Given the description of an element on the screen output the (x, y) to click on. 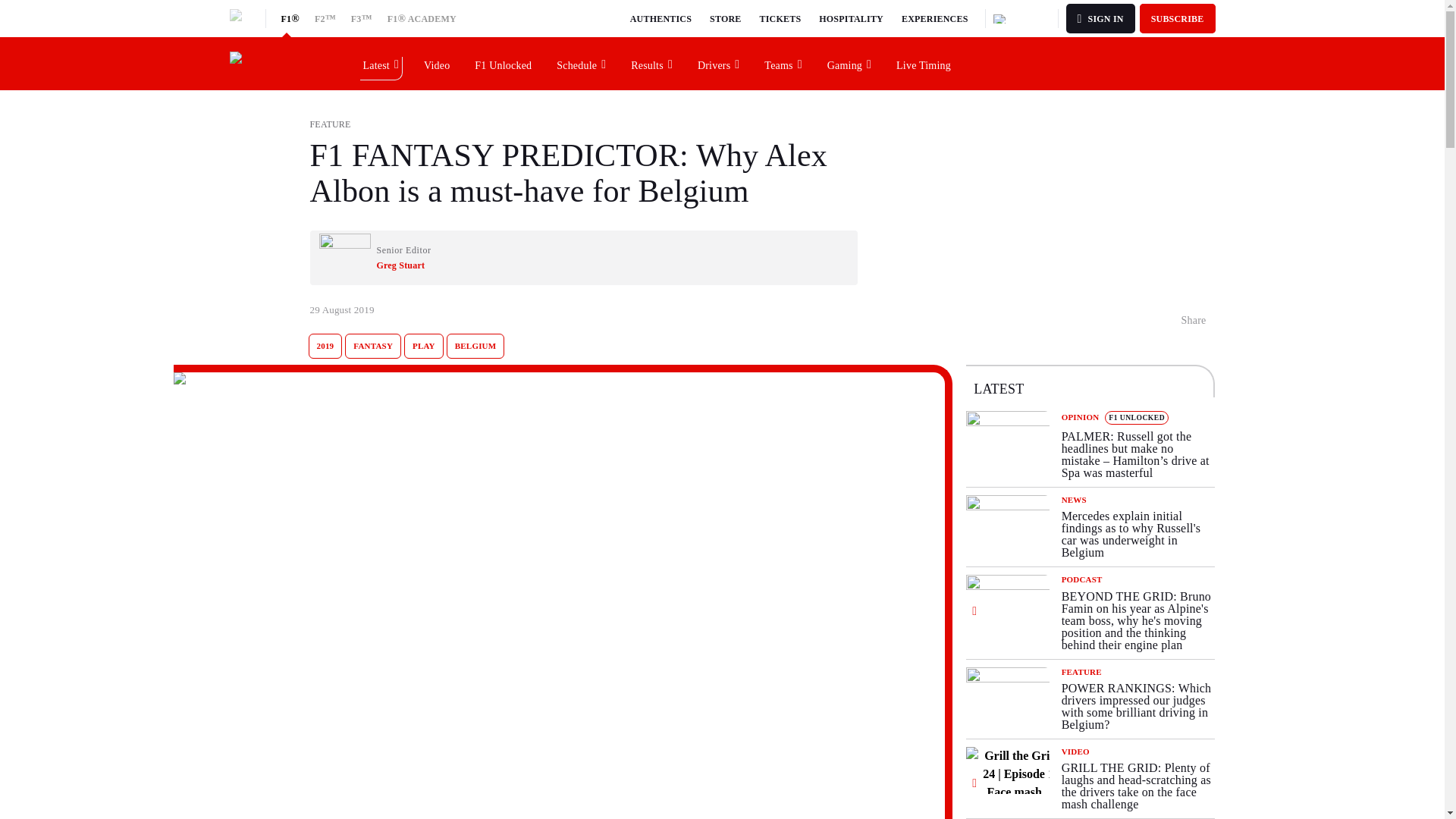
HOSPITALITY (850, 18)
Latest (380, 63)
SUBSCRIBE (1177, 18)
Teams (782, 63)
EXPERIENCES (934, 18)
AUTHENTICS (660, 18)
Results (651, 63)
2019 (324, 345)
Video (437, 63)
PLAY (424, 345)
F1 Unlocked (503, 63)
STORE (725, 18)
